Given the description of an element on the screen output the (x, y) to click on. 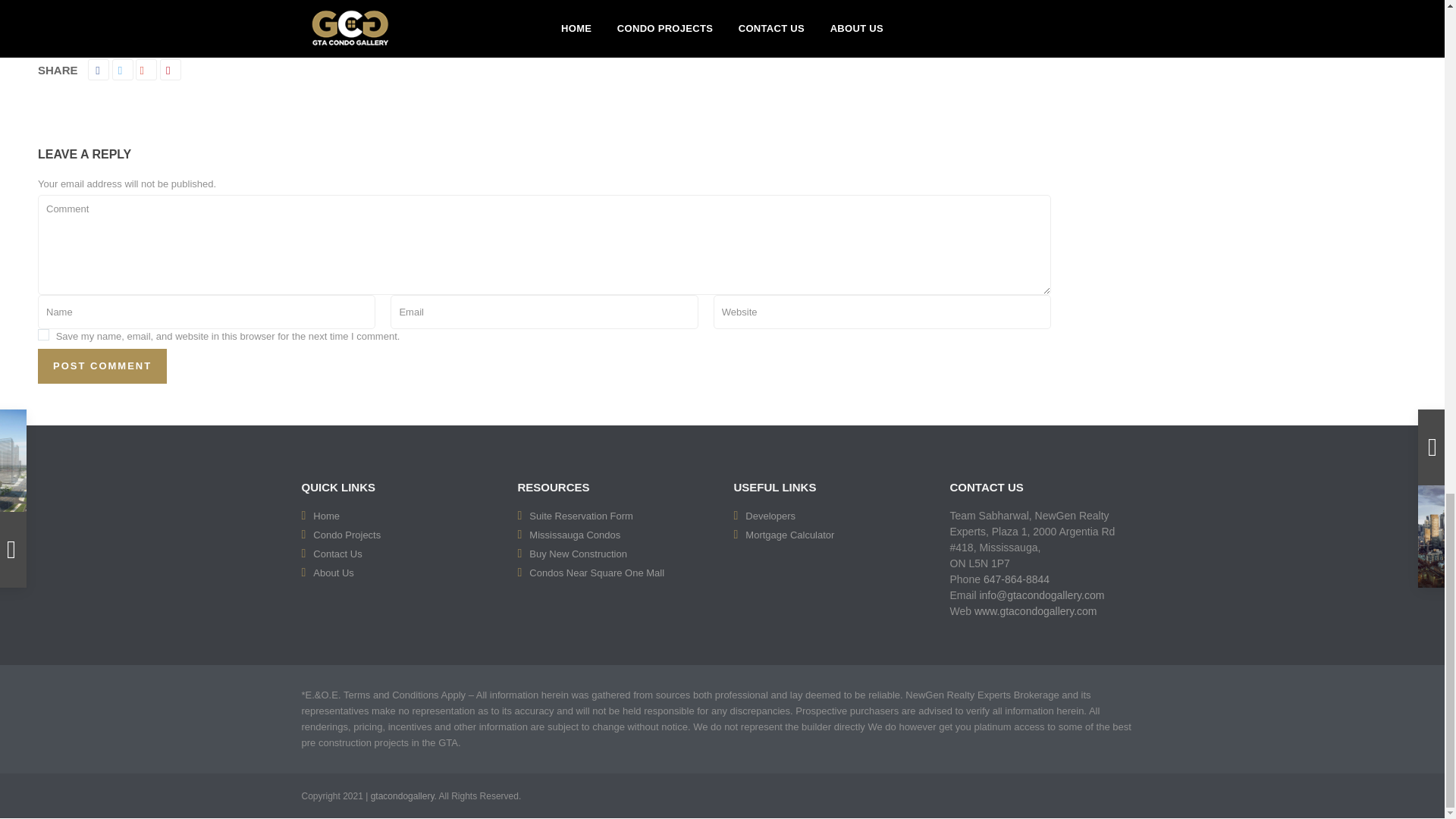
Contact Us (337, 553)
Home (326, 515)
Tools (789, 534)
Post Comment (102, 366)
Condo Projects (346, 534)
Buy New Construction (578, 553)
Condos Near Square One Mall (596, 572)
yes (43, 334)
Condo Projects (346, 534)
Post Comment (102, 366)
